Given the description of an element on the screen output the (x, y) to click on. 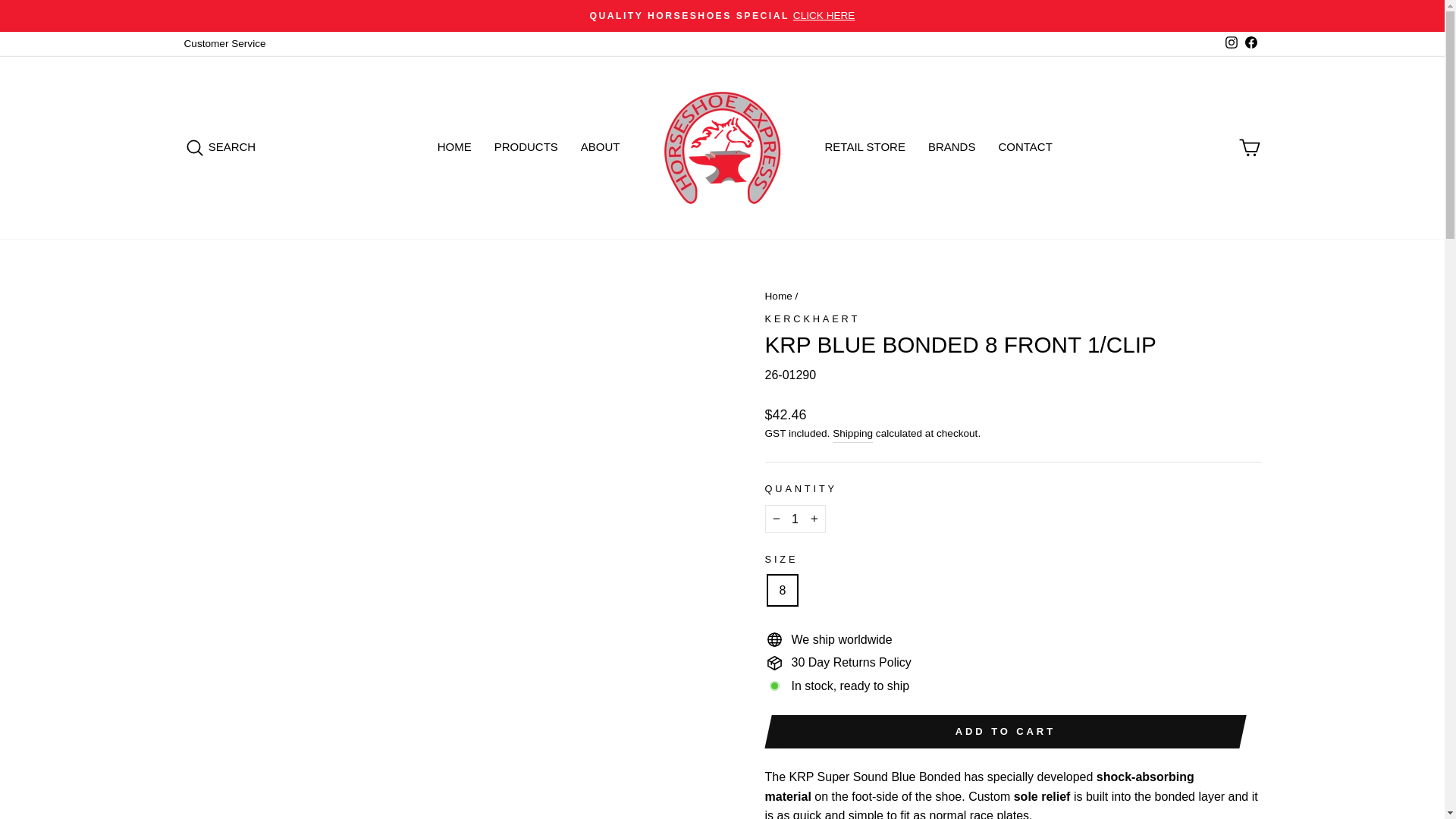
1 (794, 519)
Back to the frontpage (778, 295)
